Given the description of an element on the screen output the (x, y) to click on. 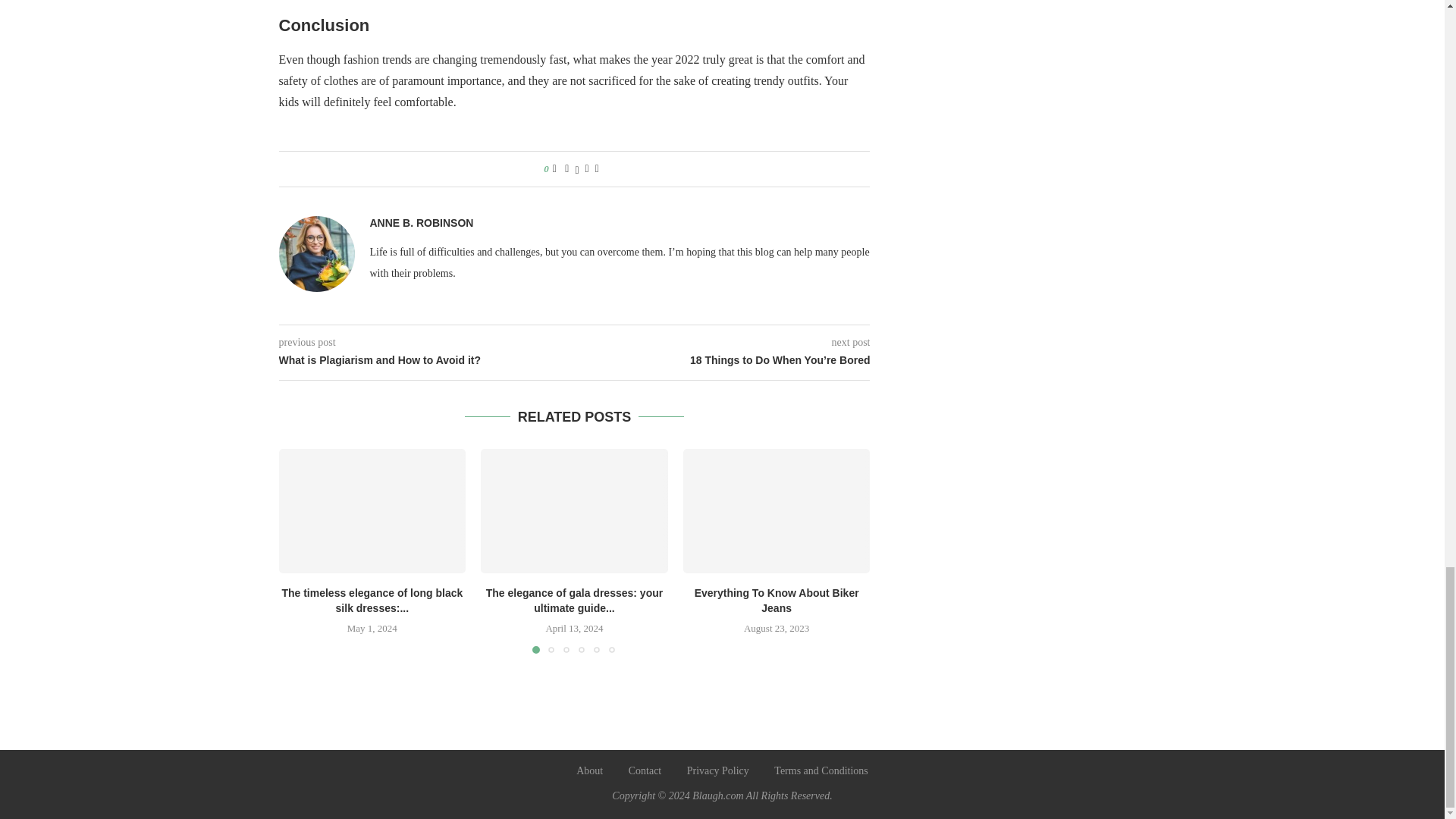
Author Anne B. Robinson (421, 223)
Everything To Know About Biker Jeans (776, 510)
